Given the description of an element on the screen output the (x, y) to click on. 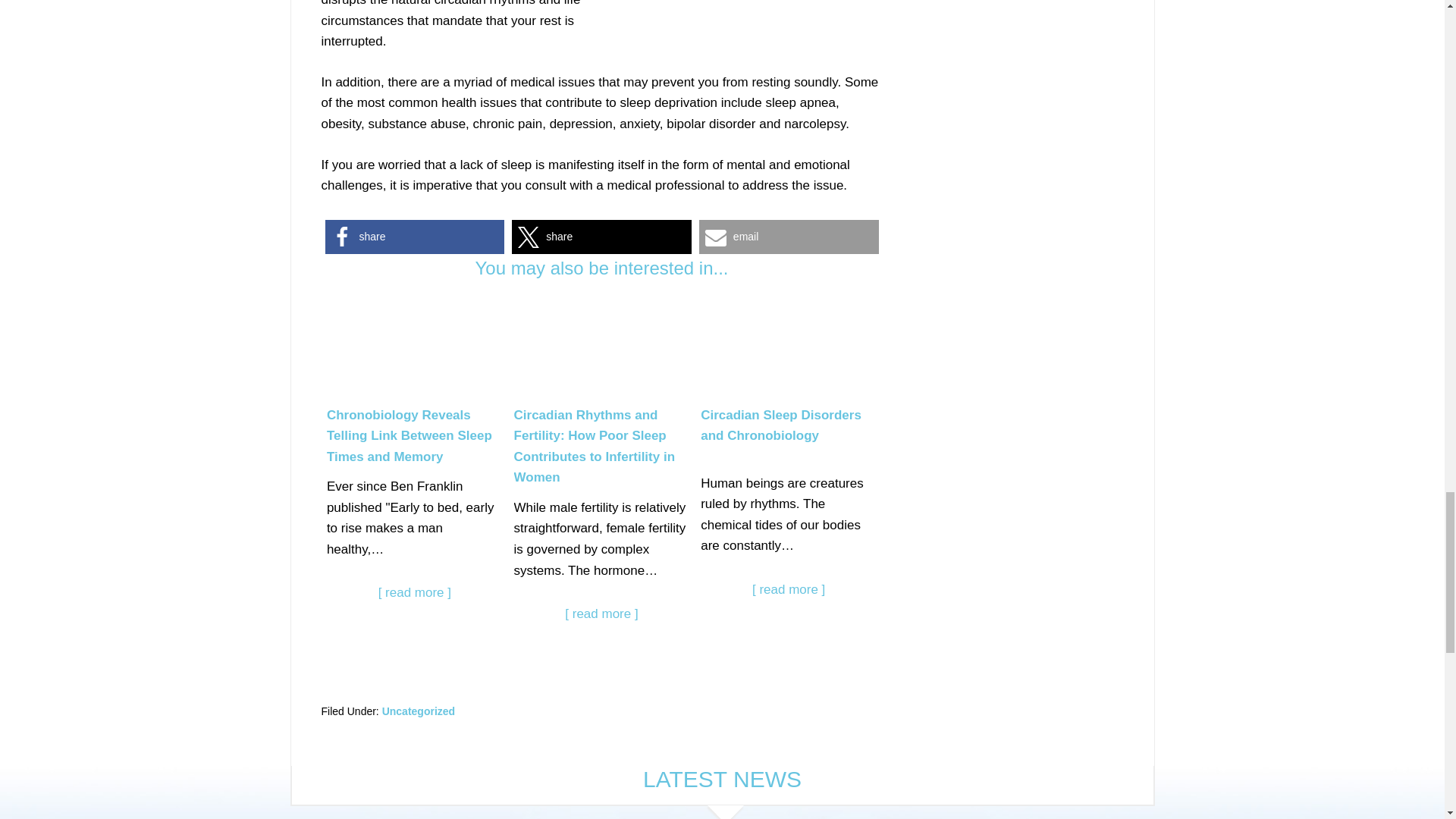
Horizontal In Text Image 1 1 (768, 29)
Share on Facebook (413, 236)
Send by email (788, 236)
Share on X (601, 236)
